Given the description of an element on the screen output the (x, y) to click on. 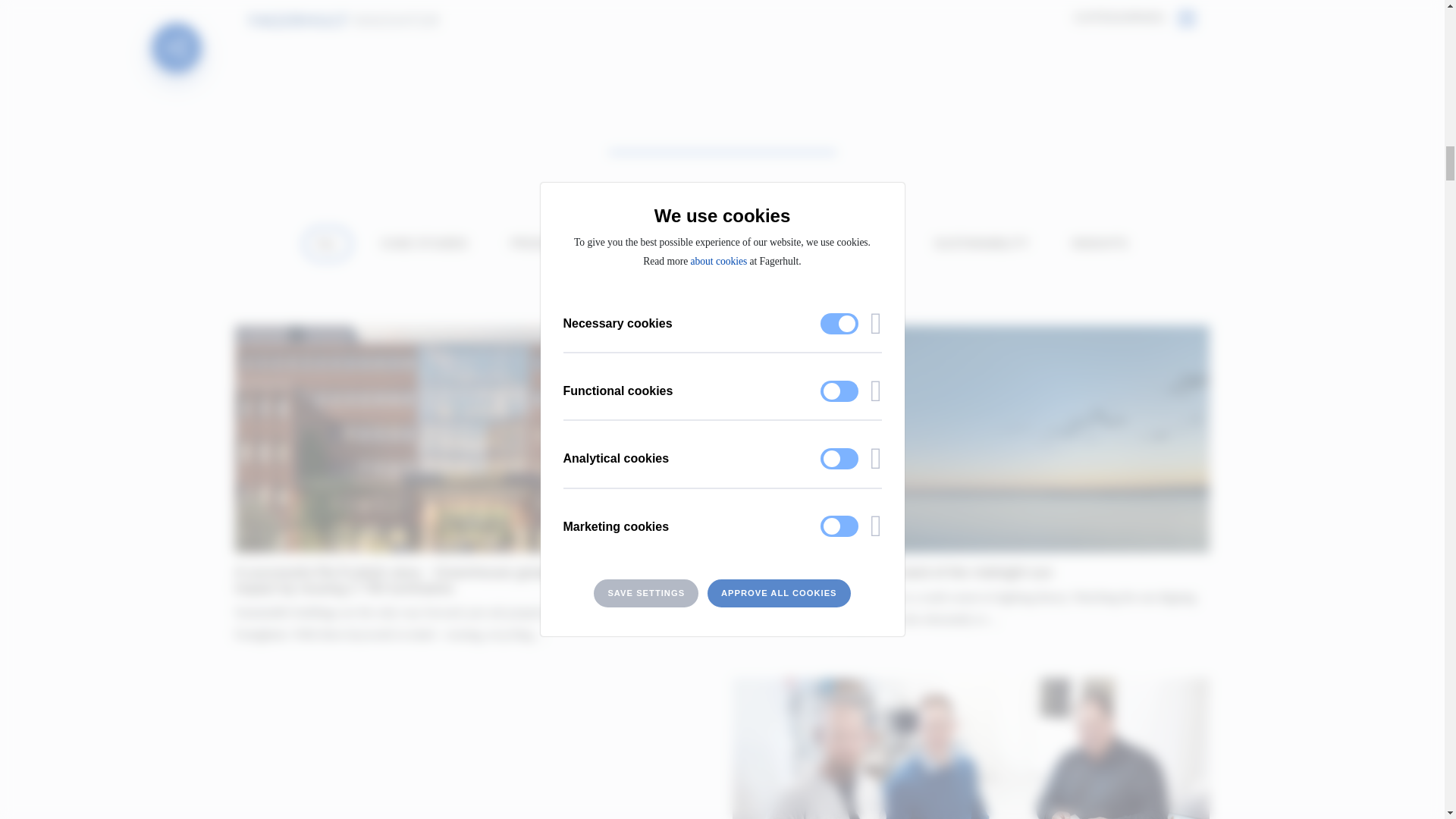
ALL (327, 244)
SUSTAINABILITY (981, 244)
PORTRAITS (857, 244)
PRODUCT (539, 244)
KNOWLEDGE (741, 244)
INSIGHTS (1099, 244)
TRENDS (636, 244)
CASE STUDIES (423, 244)
